Given the description of an element on the screen output the (x, y) to click on. 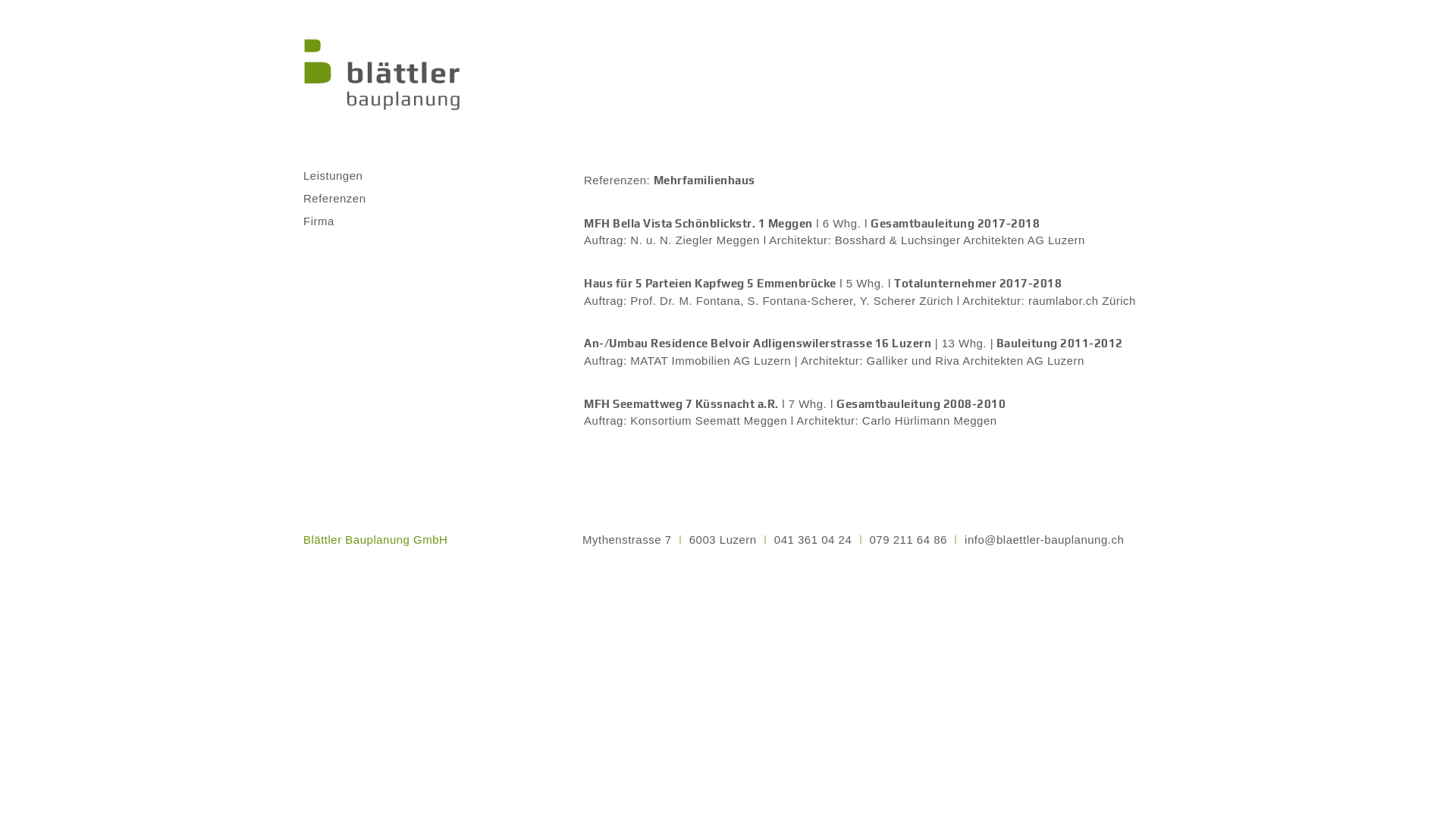
6003 Luzern Element type: text (722, 539)
Referenzen Element type: text (346, 198)
Leistungen Element type: text (346, 175)
Firma Element type: text (346, 221)
Mythenstrasse 7 Element type: text (626, 539)
info@blaettler-bauplanung.ch Element type: text (1043, 539)
